Given the description of an element on the screen output the (x, y) to click on. 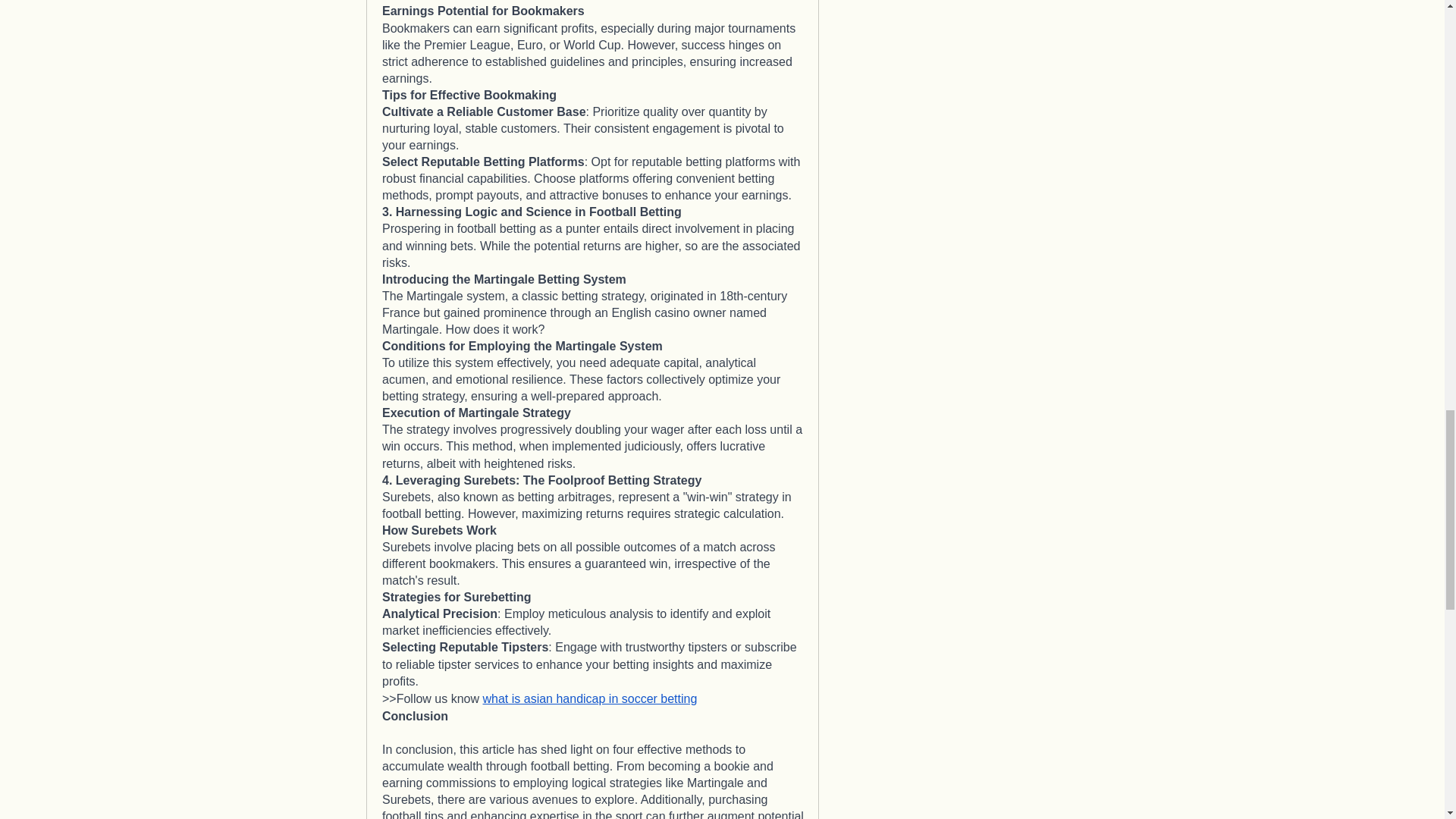
what is asian handicap in soccer betting (589, 698)
